Given the description of an element on the screen output the (x, y) to click on. 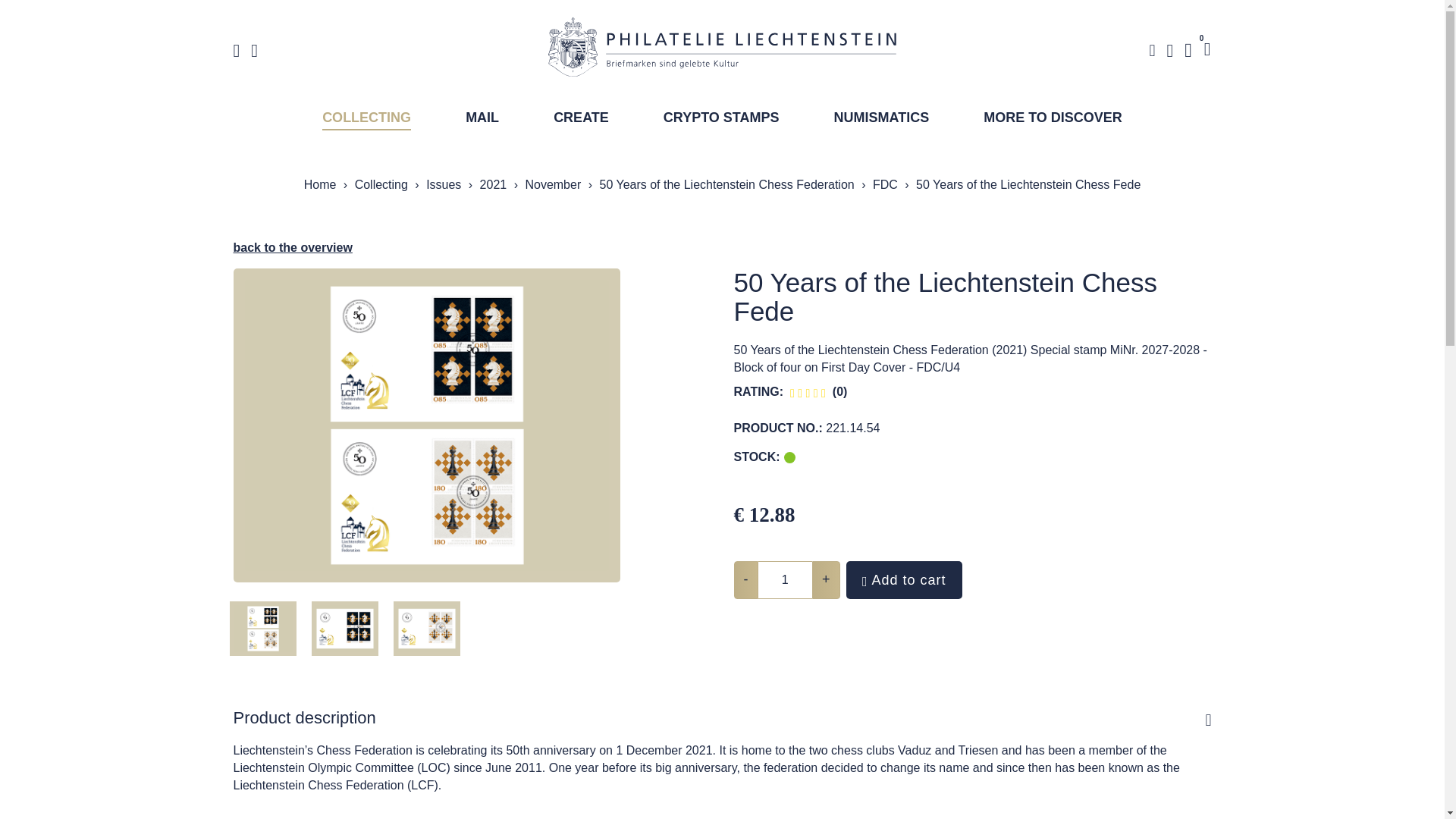
Quantity (785, 579)
Click to see details (426, 425)
Information (253, 50)
products in stock (789, 457)
My account (1188, 50)
language (1169, 50)
1 (785, 579)
Search (1151, 50)
Help (236, 50)
basket (1207, 48)
